Given the description of an element on the screen output the (x, y) to click on. 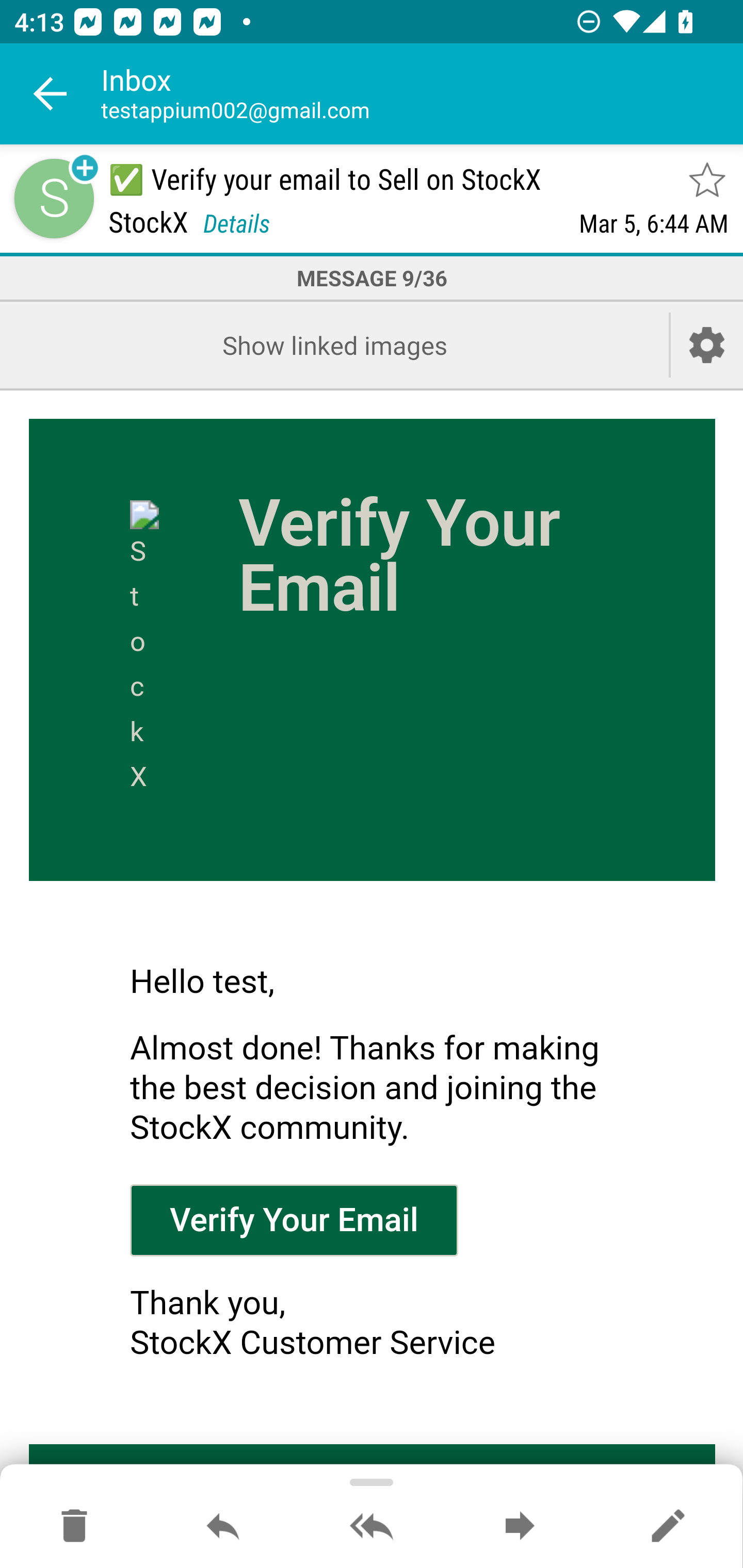
Navigate up (50, 93)
Inbox testappium002@gmail.com (422, 93)
Sender contact button (53, 198)
Show linked images (334, 344)
Account setup (706, 344)
StockX (145, 649)
Verify Your Email (293, 1219)
Move to Deleted (74, 1527)
Reply (222, 1527)
Reply all (371, 1527)
Forward (519, 1527)
Reply as new (667, 1527)
